Given the description of an element on the screen output the (x, y) to click on. 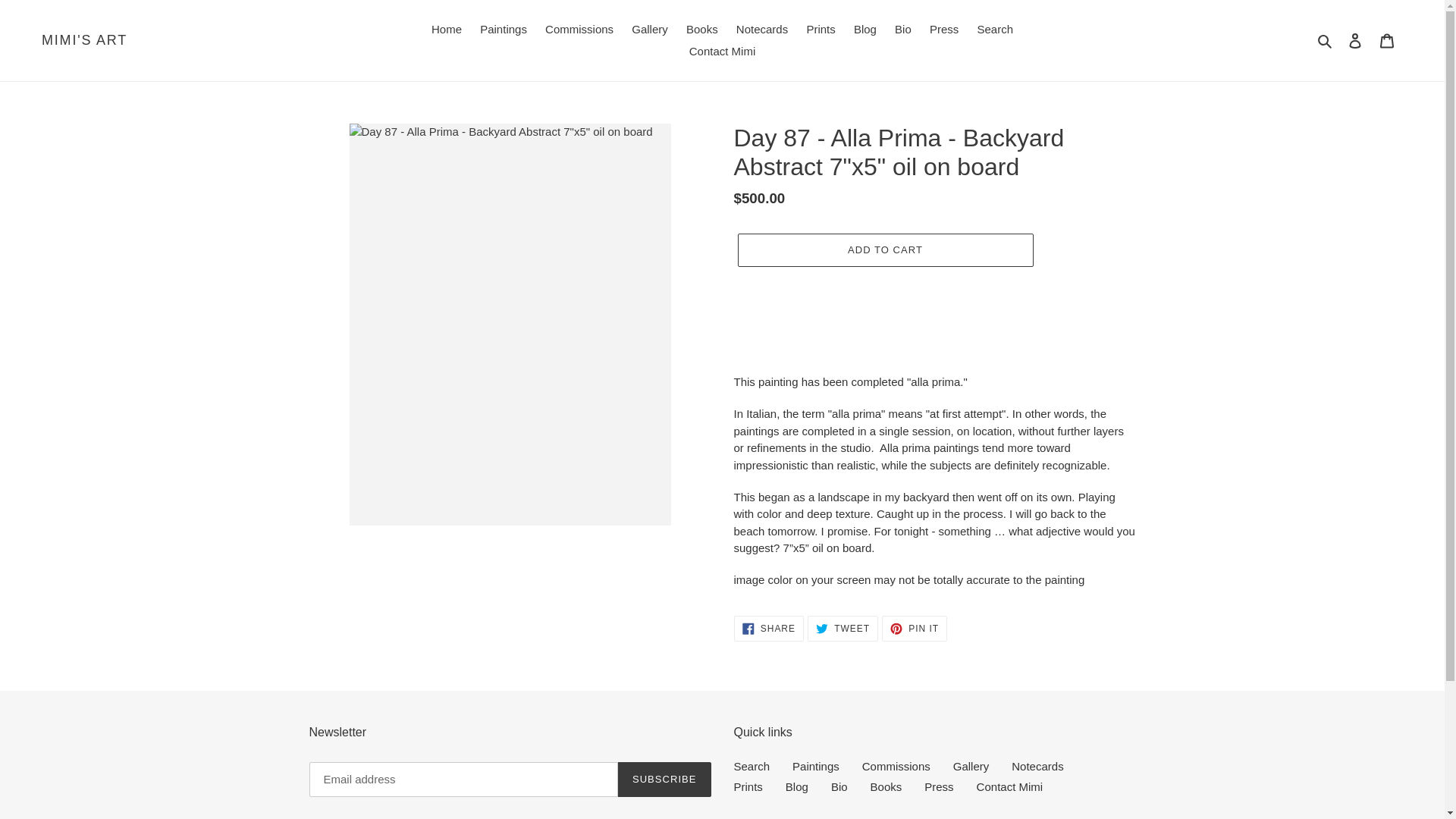
Blog (864, 29)
Search (1326, 40)
MIMI'S ART (85, 40)
Bio (902, 29)
Search (994, 29)
Commissions (579, 29)
Home (445, 29)
Cart (1387, 40)
Press (943, 29)
Notecards (768, 628)
Prints (761, 29)
Books (820, 29)
Log in (701, 29)
Gallery (1355, 40)
